Given the description of an element on the screen output the (x, y) to click on. 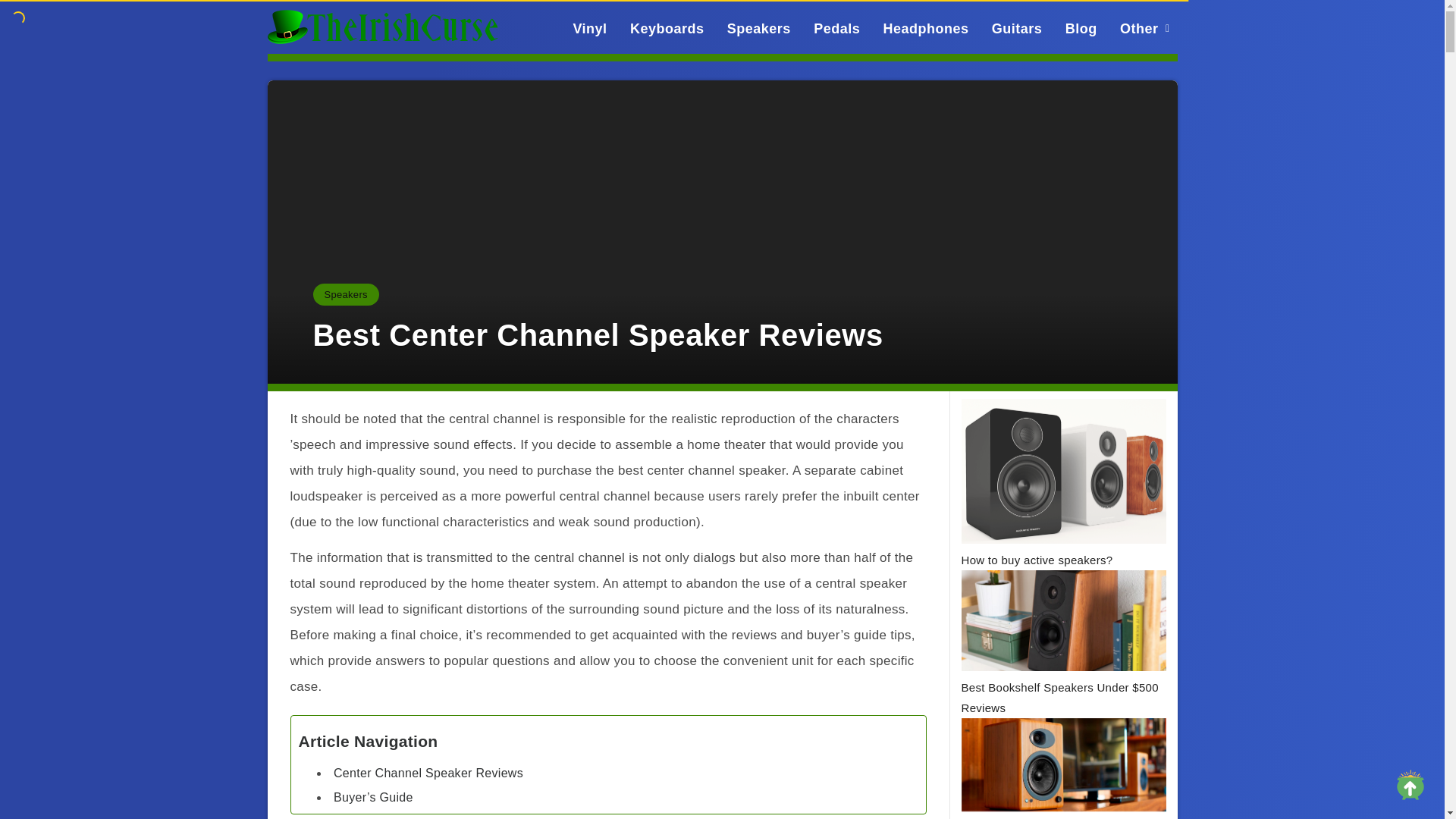
Keyboards (667, 28)
Guitars (1016, 28)
Headphones (925, 28)
Speakers (345, 294)
Blog (1081, 28)
Speakers (758, 28)
Pedals (836, 28)
Other (1138, 28)
Center Channel Speaker Reviews (427, 772)
Vinyl (589, 28)
